Given the description of an element on the screen output the (x, y) to click on. 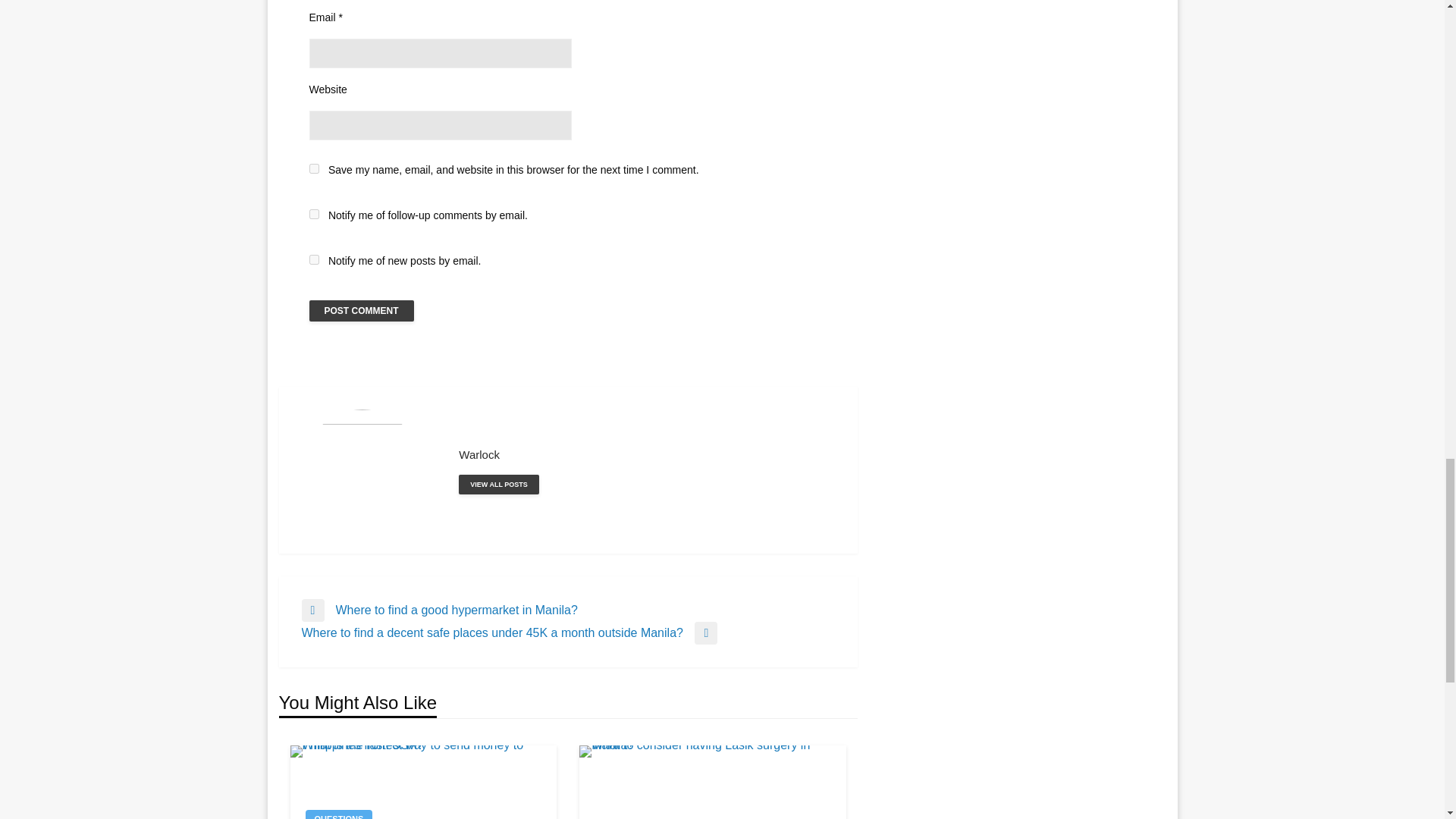
QUESTIONS (338, 814)
Post Comment (360, 310)
VIEW ALL POSTS (498, 484)
Warlock (646, 454)
yes (313, 168)
Warlock (498, 484)
What to consider having Lasik surgery in Manila? (712, 782)
Post Comment (360, 310)
subscribe (313, 259)
